Given the description of an element on the screen output the (x, y) to click on. 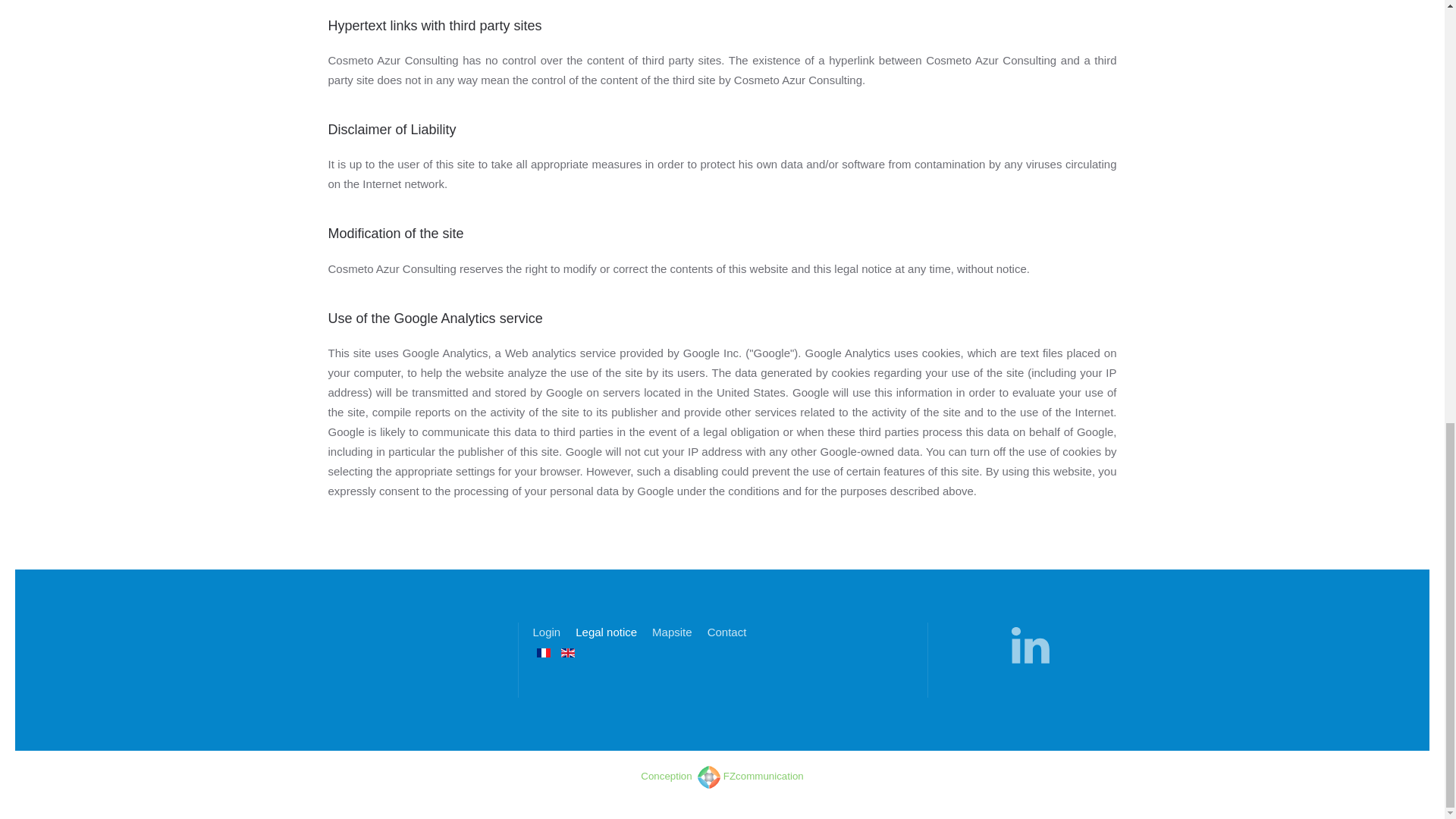
Mapsite (672, 632)
Legal notice (606, 632)
Conception   FZcommunication (721, 776)
Contact (726, 632)
Login (546, 632)
